Given the description of an element on the screen output the (x, y) to click on. 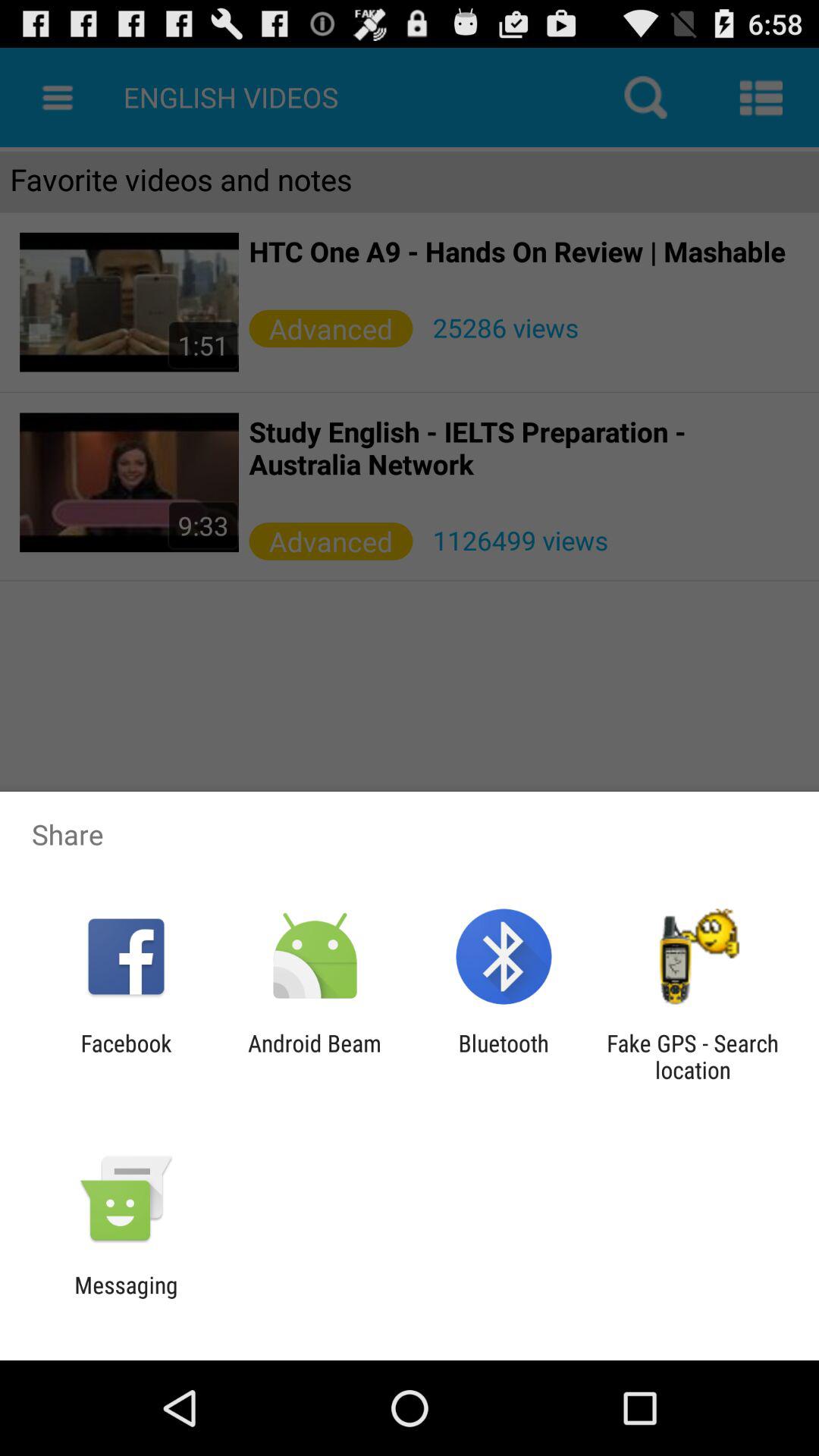
turn on the fake gps search at the bottom right corner (692, 1056)
